Given the description of an element on the screen output the (x, y) to click on. 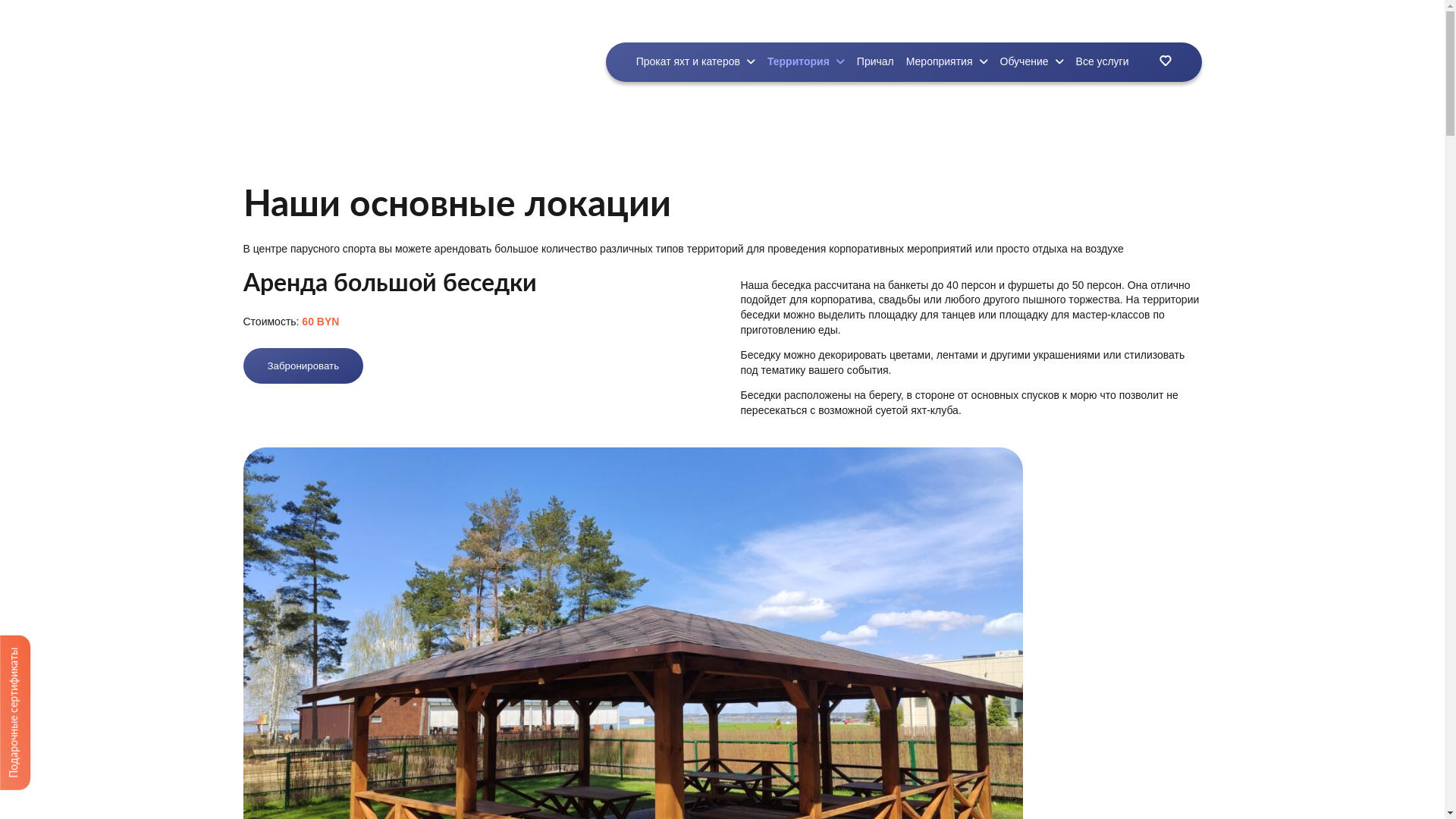
map Element type: hover (1132, 24)
tg Element type: hover (1017, 24)
instagram Element type: hover (1072, 24)
viber Element type: hover (1035, 24)
whatsapp Element type: hover (999, 24)
phone Element type: hover (1114, 24)
facebook Element type: hover (1054, 24)
